Given the description of an element on the screen output the (x, y) to click on. 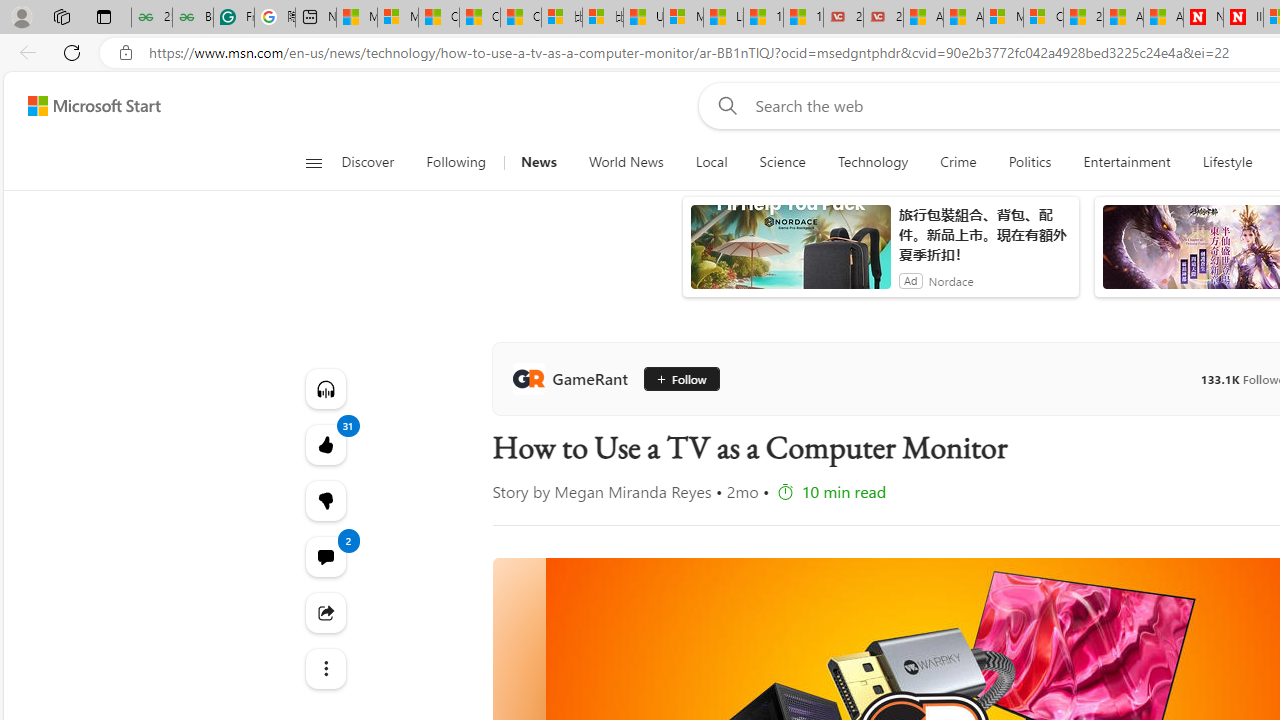
Class: button-glyph (313, 162)
15 Ways Modern Life Contradicts the Teachings of Jesus (803, 17)
World News (625, 162)
Share this story (324, 612)
21 Movies That Outdid the Books They Were Based On (883, 17)
USA TODAY - MSN (643, 17)
Newsweek - News, Analysis, Politics, Business, Technology (1203, 17)
Technology (872, 162)
Microsoft Services Agreement (1003, 17)
Local (711, 162)
